Given the description of an element on the screen output the (x, y) to click on. 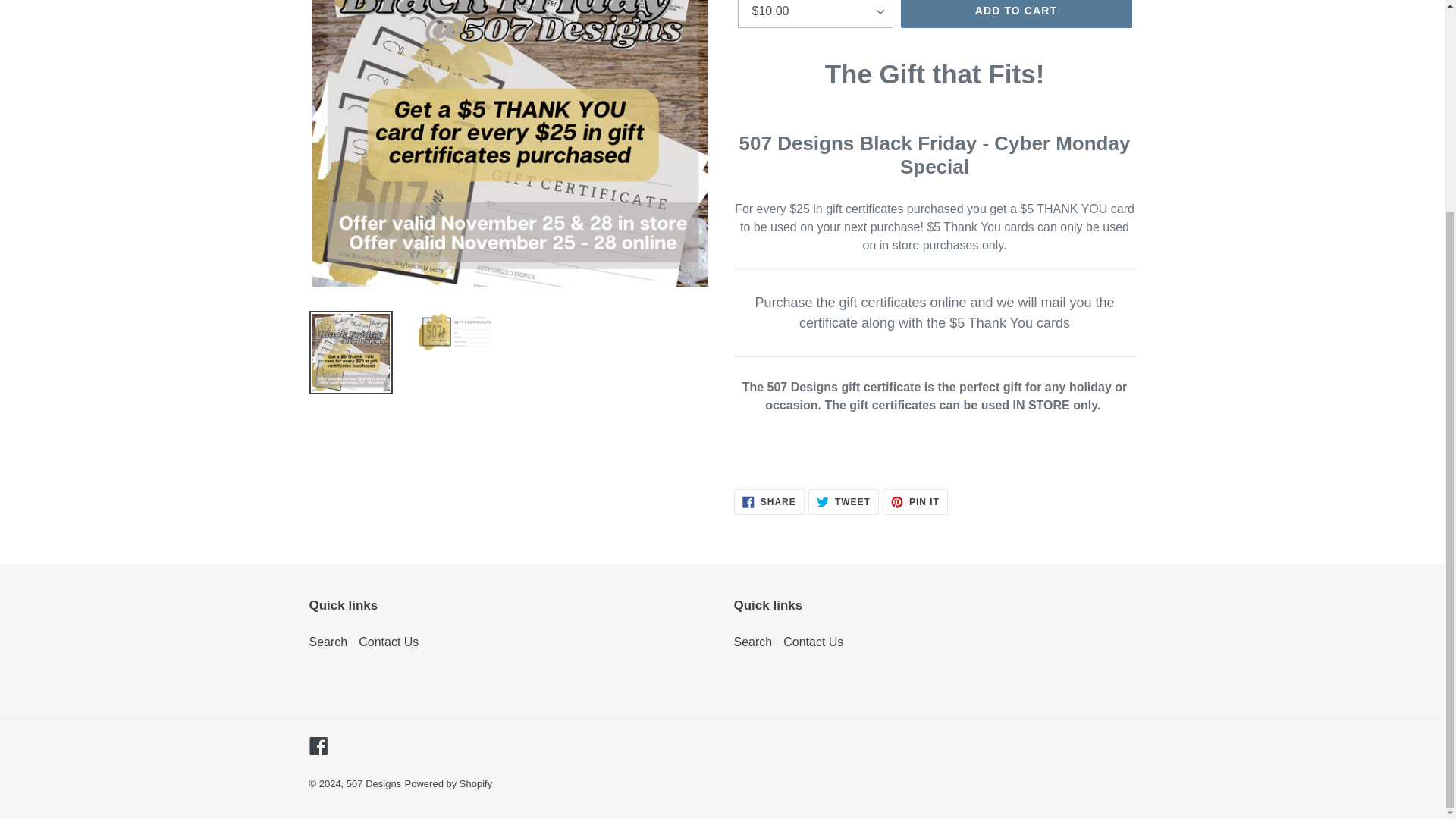
Contact Us (813, 641)
ADD TO CART (1016, 13)
Powered by Shopify (843, 501)
Contact Us (448, 783)
507 Designs (388, 641)
Search (373, 783)
Facebook (753, 641)
Search (318, 745)
